Given the description of an element on the screen output the (x, y) to click on. 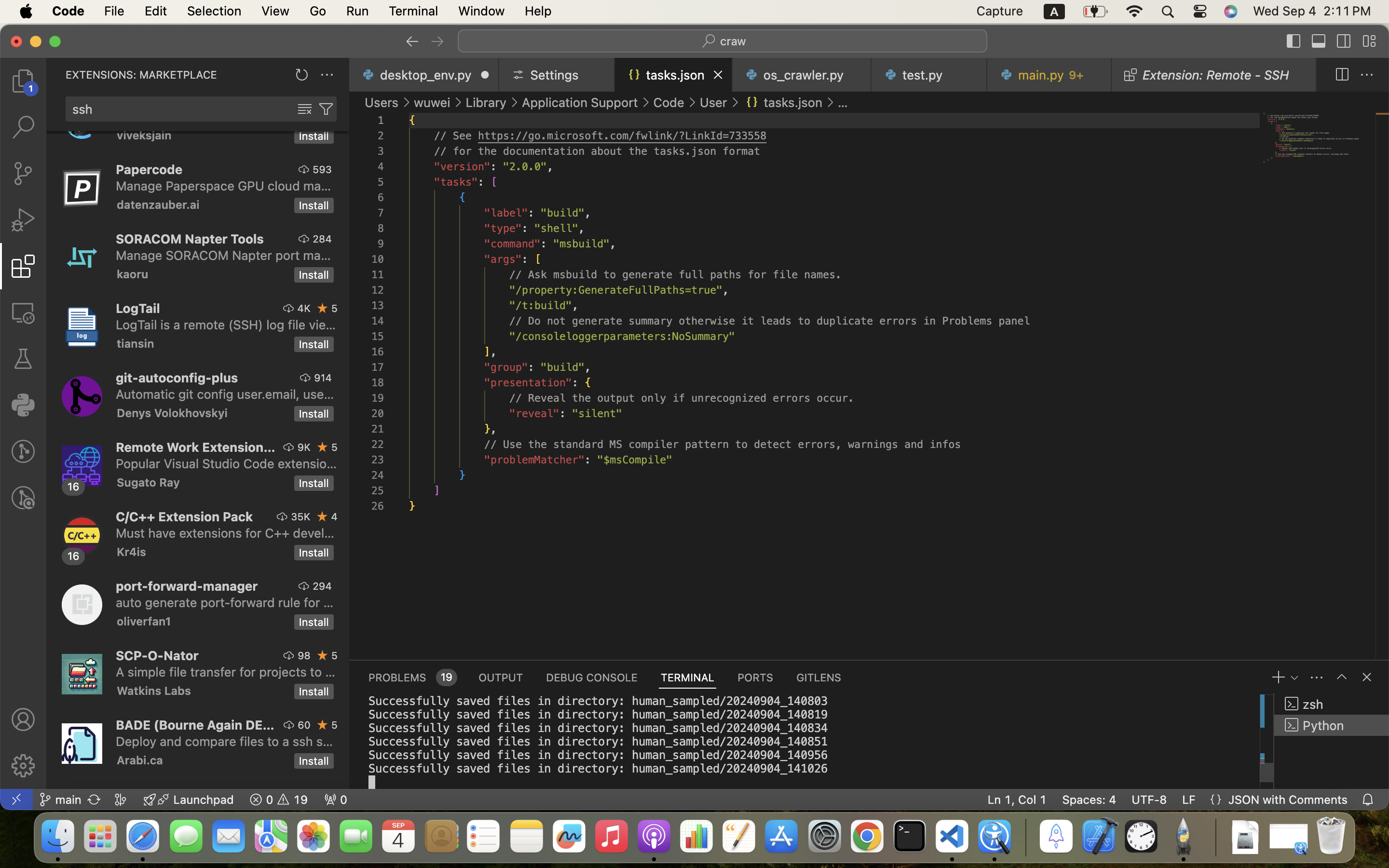
SCP-O-Nator Element type: AXStaticText (156, 655)
 Element type: AXButton (1366, 676)
port-forward-manager Element type: AXStaticText (186, 585)
User Element type: AXGroup (713, 101)
A simple file transfer for projects to and from servers suporting scp (ssh file transfer). Element type: AXStaticText (225, 671)
